Given the description of an element on the screen output the (x, y) to click on. 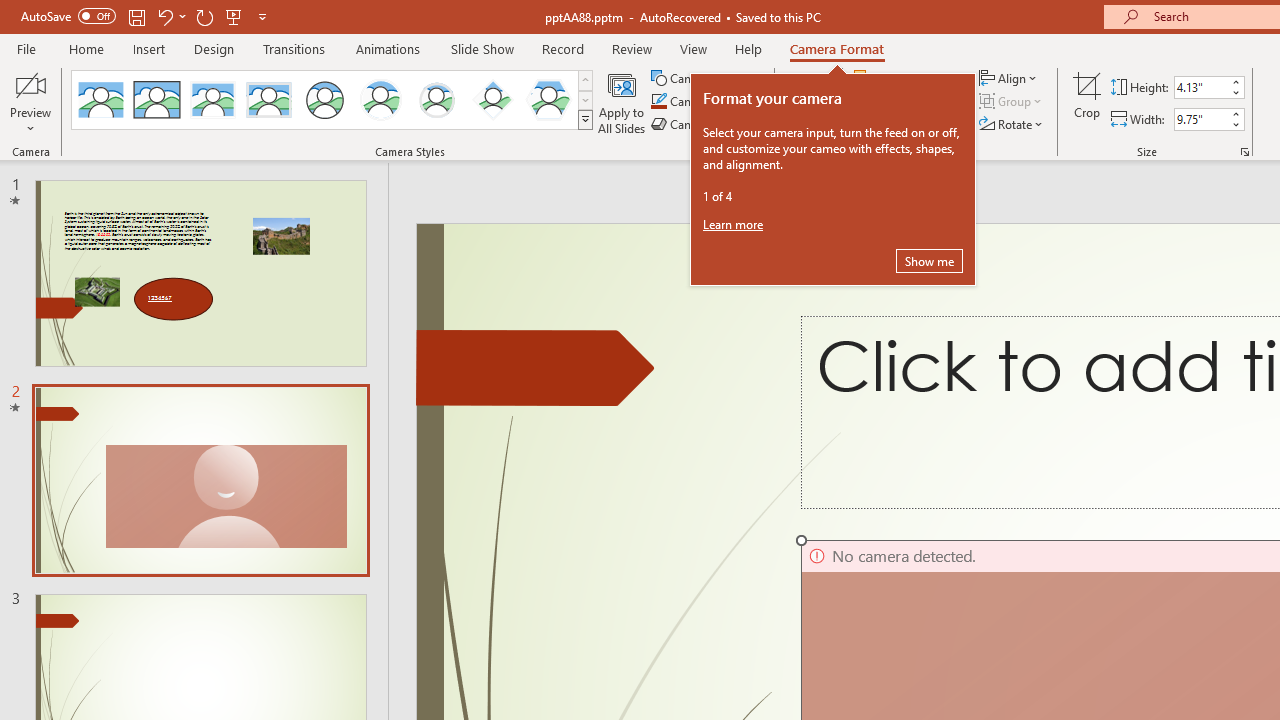
Send Backward (905, 101)
